Given the description of an element on the screen output the (x, y) to click on. 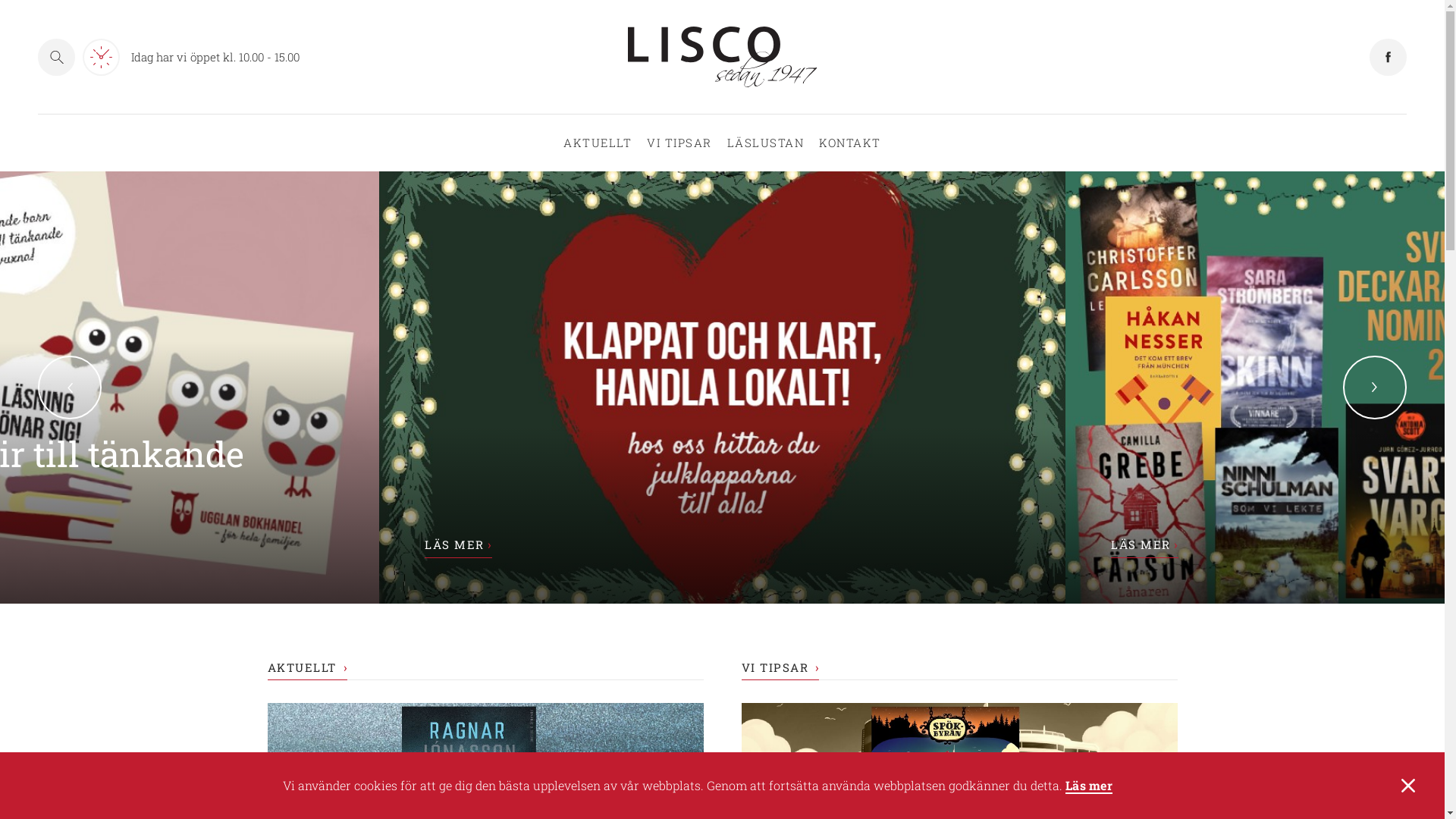
KONTAKT Element type: text (850, 142)
VI TIPSAR Element type: text (679, 142)
AKTUELLT Element type: text (306, 668)
VI TIPSAR Element type: text (780, 668)
AKTUELLT Element type: text (597, 142)
